Given the description of an element on the screen output the (x, y) to click on. 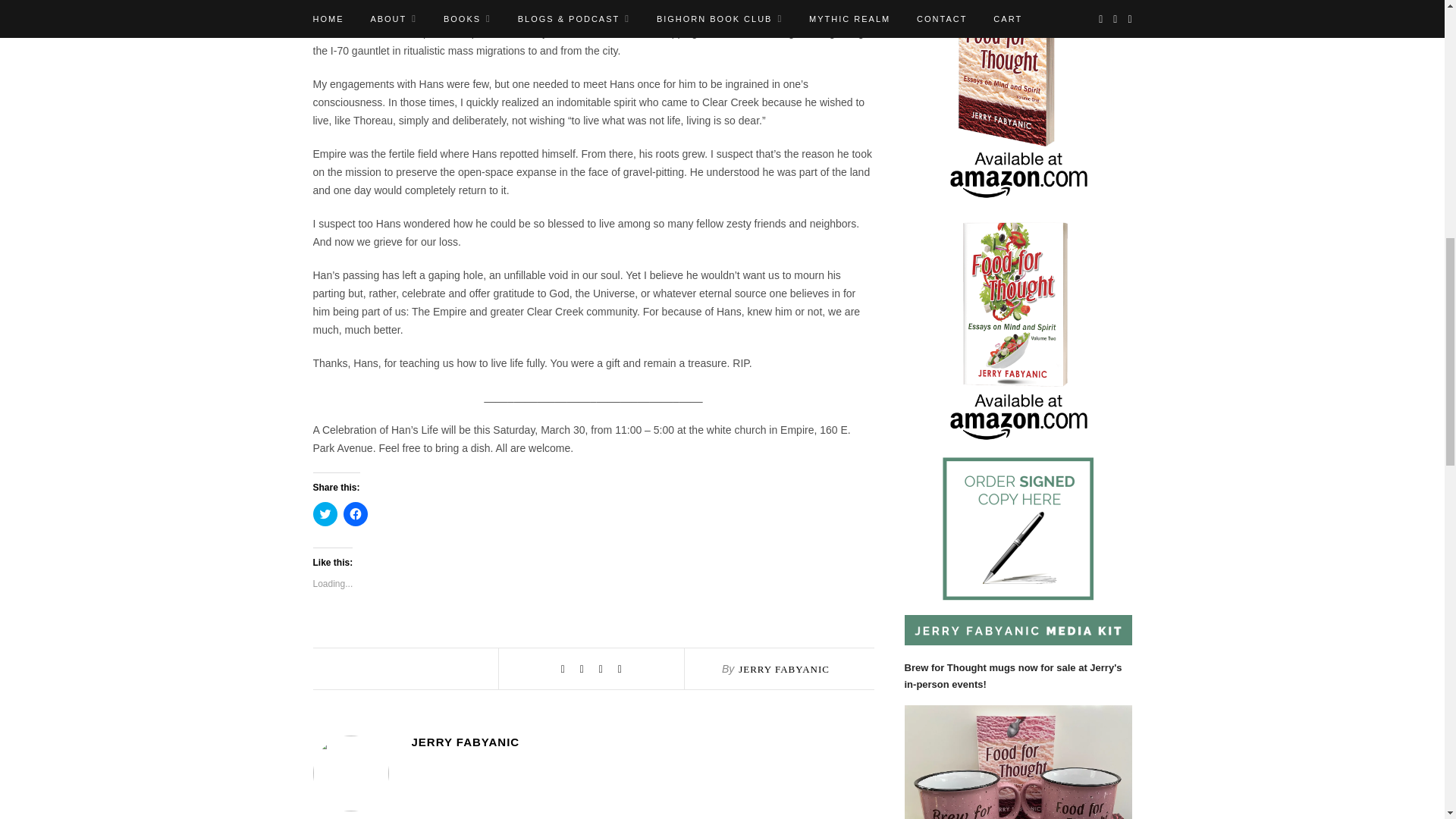
Posts by Jerry Fabyanic (641, 741)
Click to share on Facebook (354, 514)
Posts by Jerry Fabyanic (783, 668)
Click to share on Twitter (324, 514)
